Given the description of an element on the screen output the (x, y) to click on. 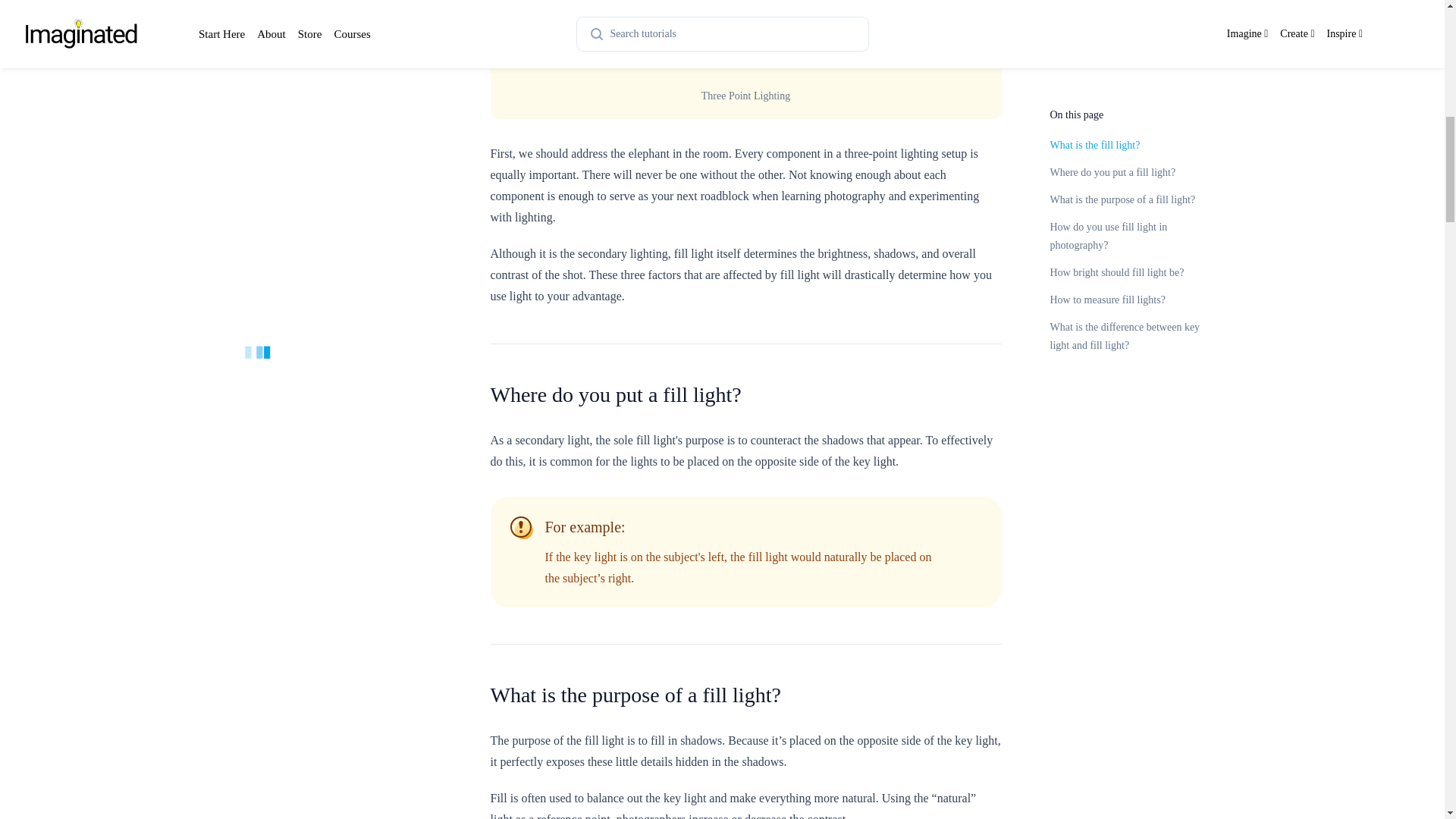
Three Point Lighting (745, 39)
